Given the description of an element on the screen output the (x, y) to click on. 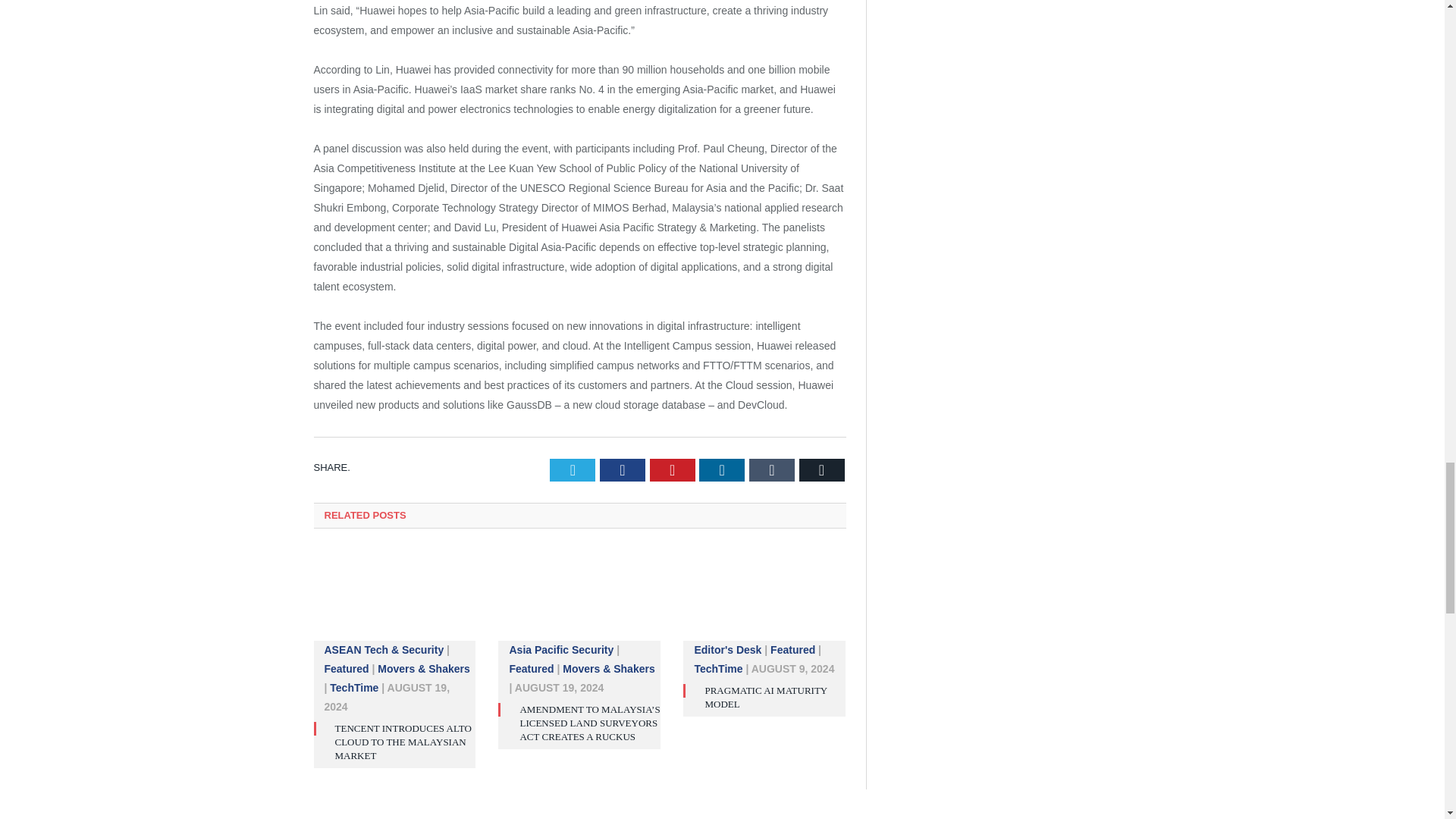
Share on LinkedIn (721, 469)
Tweet It (572, 469)
Share on Pinterest (672, 469)
Share on Facebook (622, 469)
Share via Email (821, 469)
Tencent Introduces Alto Cloud to the Malaysian Market (395, 602)
Share on Tumblr (771, 469)
